Given the description of an element on the screen output the (x, y) to click on. 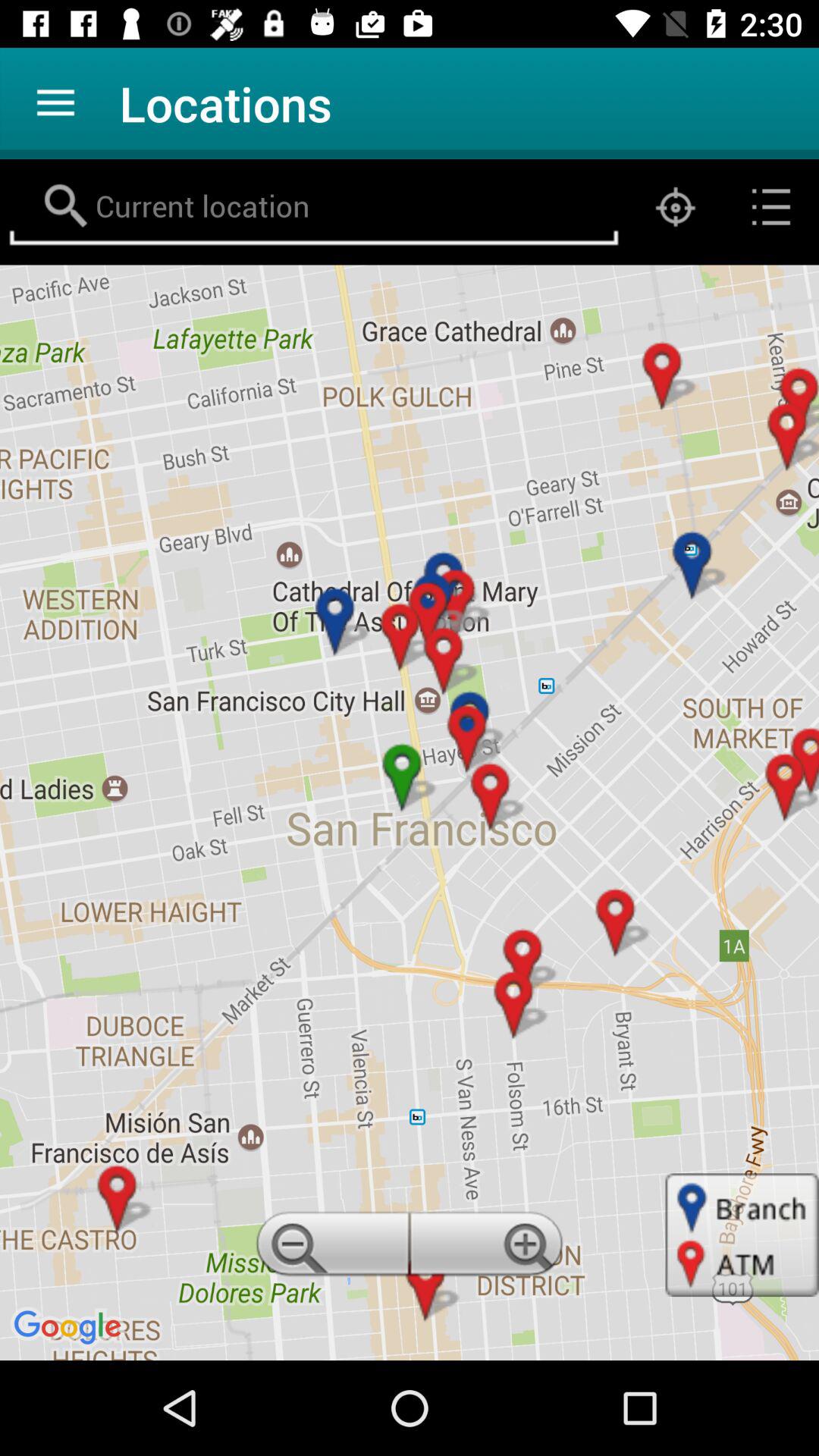
location field (313, 206)
